Given the description of an element on the screen output the (x, y) to click on. 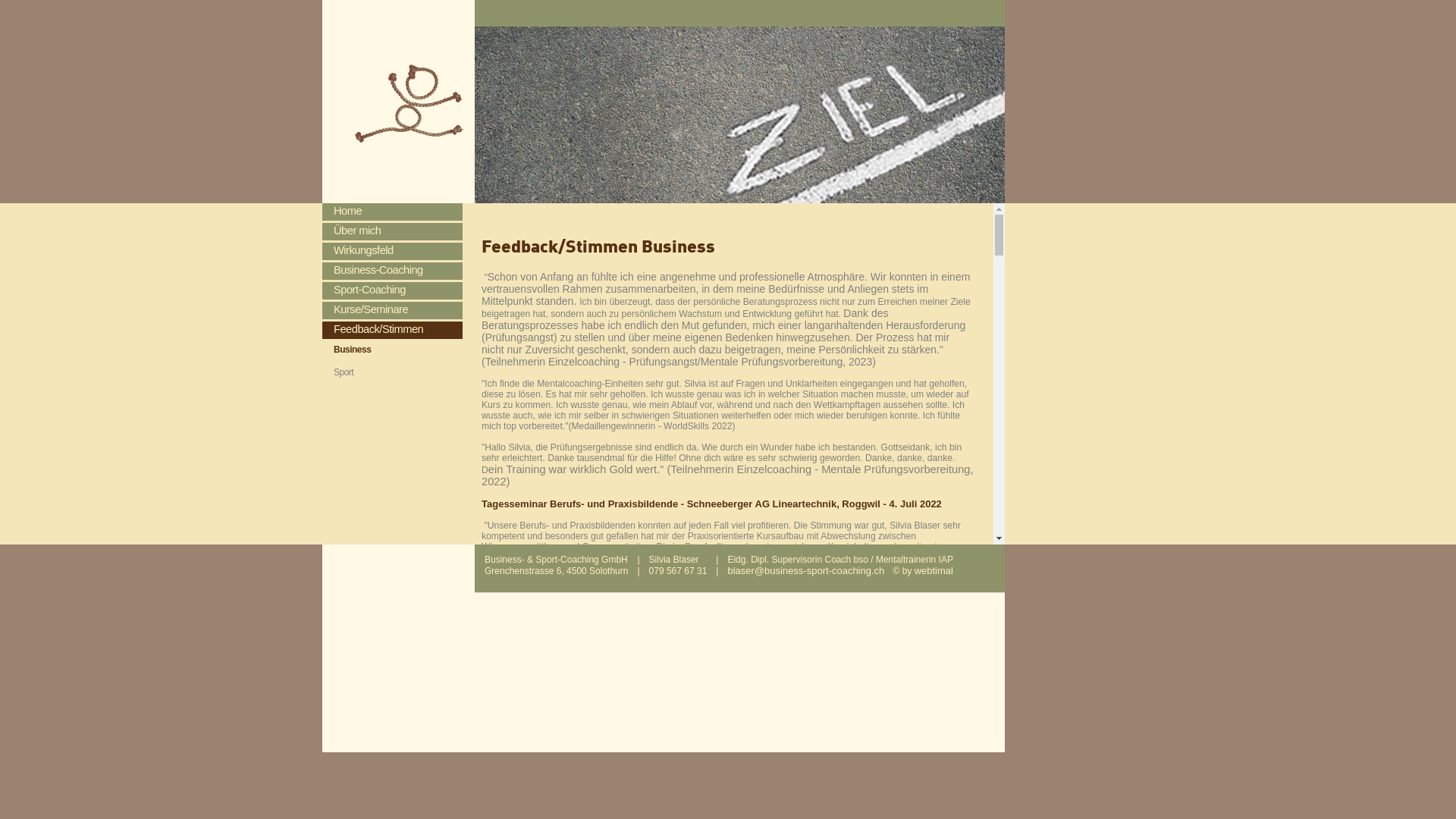
Kurse/Seminare Element type: text (392, 310)
Home Element type: text (392, 211)
Sport-Coaching Element type: text (392, 290)
Feedback/Stimmen Element type: text (392, 329)
Business Element type: text (391, 349)
blaser@business-sport-coaching.ch Element type: text (805, 568)
webtimal Element type: text (933, 568)
Wirkungsfeld Element type: text (392, 251)
Sport Element type: text (391, 372)
Business-Coaching Element type: text (392, 270)
